Given the description of an element on the screen output the (x, y) to click on. 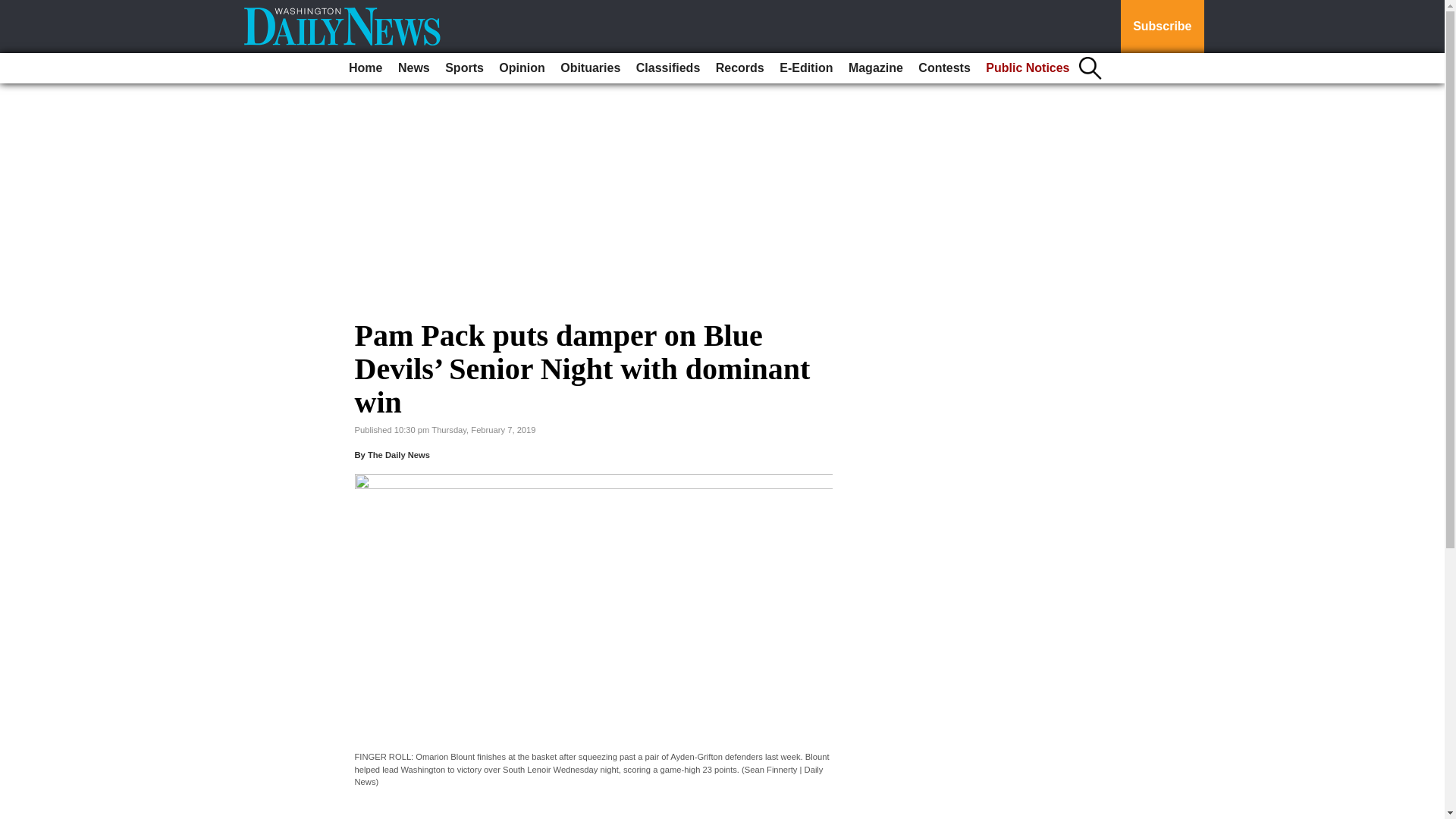
Contests (943, 68)
E-Edition (805, 68)
Home (365, 68)
Obituaries (590, 68)
Subscribe (1162, 26)
Magazine (875, 68)
Go (13, 9)
News (413, 68)
Records (740, 68)
Opinion (521, 68)
